Given the description of an element on the screen output the (x, y) to click on. 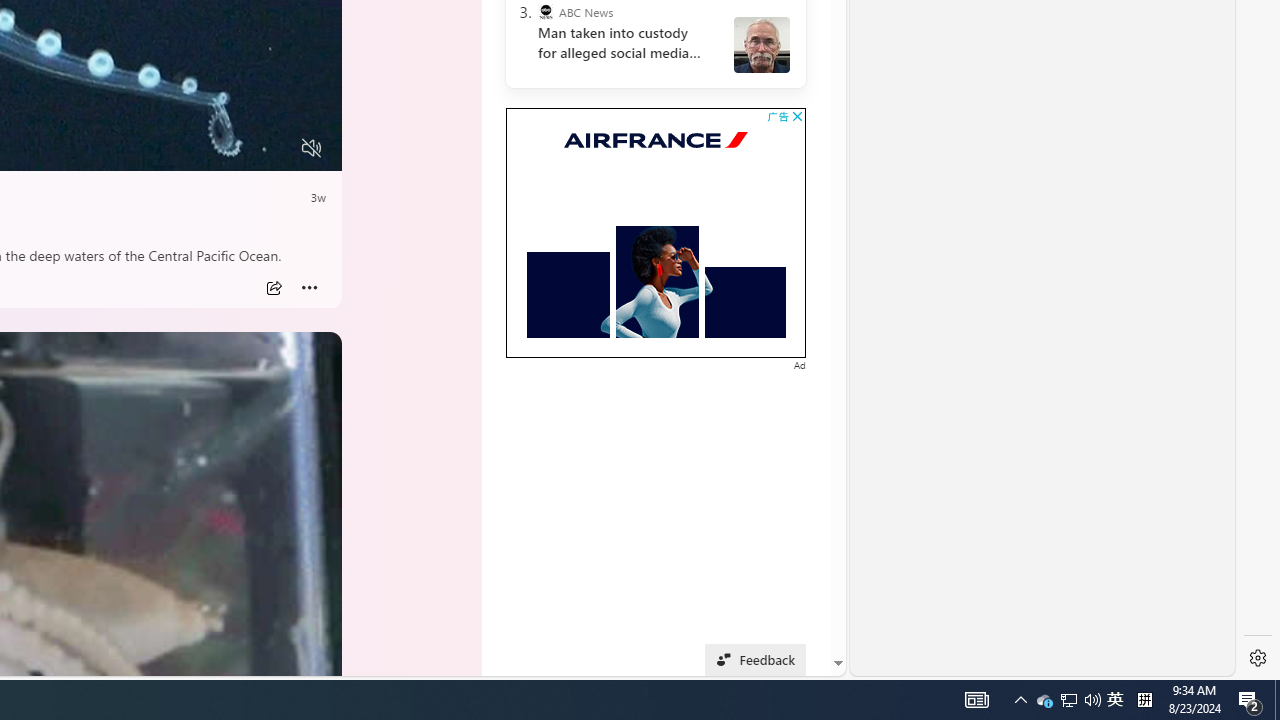
Unmute (311, 148)
Fullscreen (273, 148)
ABC News (545, 12)
Share (274, 288)
More (310, 288)
Captions (233, 148)
Class: at-item inline-watch (310, 288)
Quality Settings (193, 148)
AutomationID: cbb (797, 115)
